Given the description of an element on the screen output the (x, y) to click on. 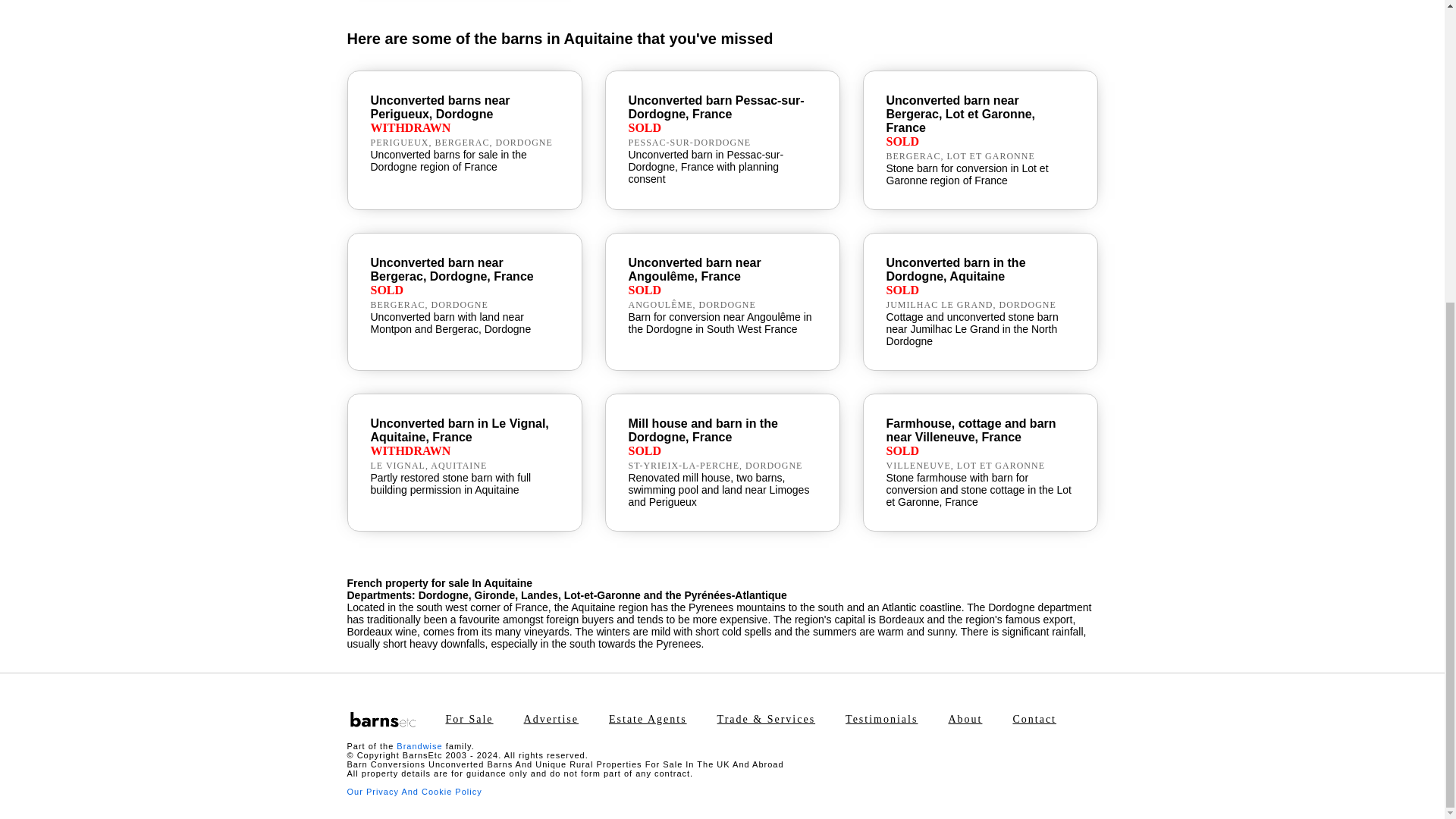
Unconverted barn near Bergerac, Lot et Garonne, France (960, 114)
Brandwise (419, 746)
Mill house and barn in the Dordogne, France (702, 429)
Farmhouse, cottage and barn near Villeneuve, France (970, 429)
Unconverted barn in the Dordogne, Aquitaine (955, 269)
Unconverted barn Pessac-sur-Dordogne, France (715, 107)
Unconverted barn near Bergerac, Dordogne, France (450, 269)
Unconverted barn in Le Vignal, Aquitaine, France (458, 429)
Our Privacy And Cookie Policy (414, 791)
Unconverted barns near Perigueux, Dordogne (439, 107)
